Given the description of an element on the screen output the (x, y) to click on. 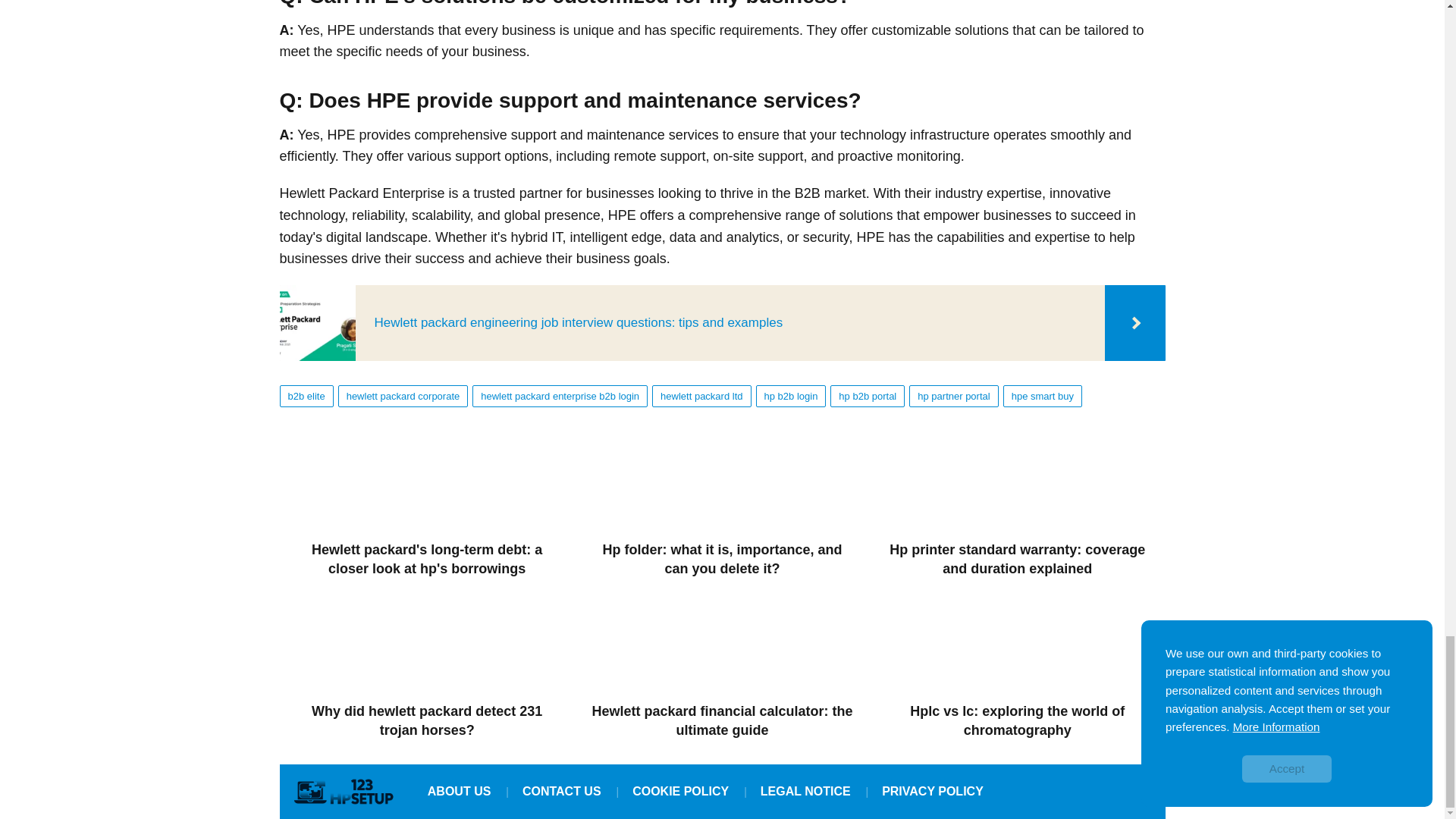
hpe smart buy (1042, 395)
hewlett packard ltd (701, 395)
hp partner portal (952, 395)
hp b2b login (791, 395)
hewlett packard corporate (402, 395)
hp b2b portal (866, 395)
hewlett packard enterprise b2b login (559, 395)
b2b elite (306, 395)
